Given the description of an element on the screen output the (x, y) to click on. 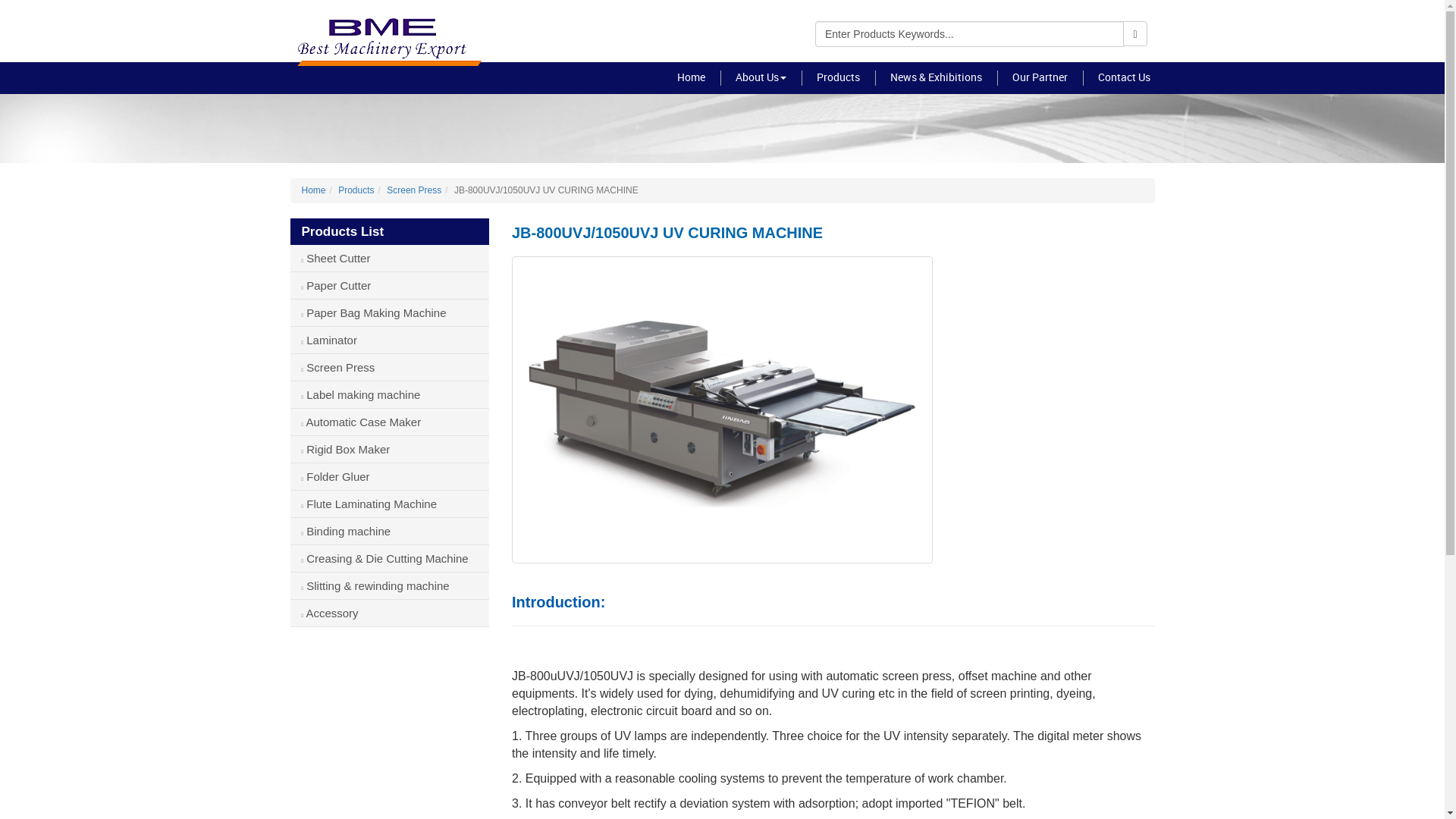
Contact Us (1124, 78)
Screen Press (389, 367)
Automatic Case Maker (389, 421)
Enter Products Keywords... (969, 33)
Products (355, 190)
Rigid Box Maker (389, 449)
Sheet Cutter (389, 257)
Folder Gluer (389, 476)
Laminator (389, 339)
Automatic Case Maker (389, 421)
Home (690, 78)
Accessory (389, 613)
Sheet Cutter (389, 257)
Paper Bag Making Machine (389, 312)
Our Partner (1038, 78)
